Given the description of an element on the screen output the (x, y) to click on. 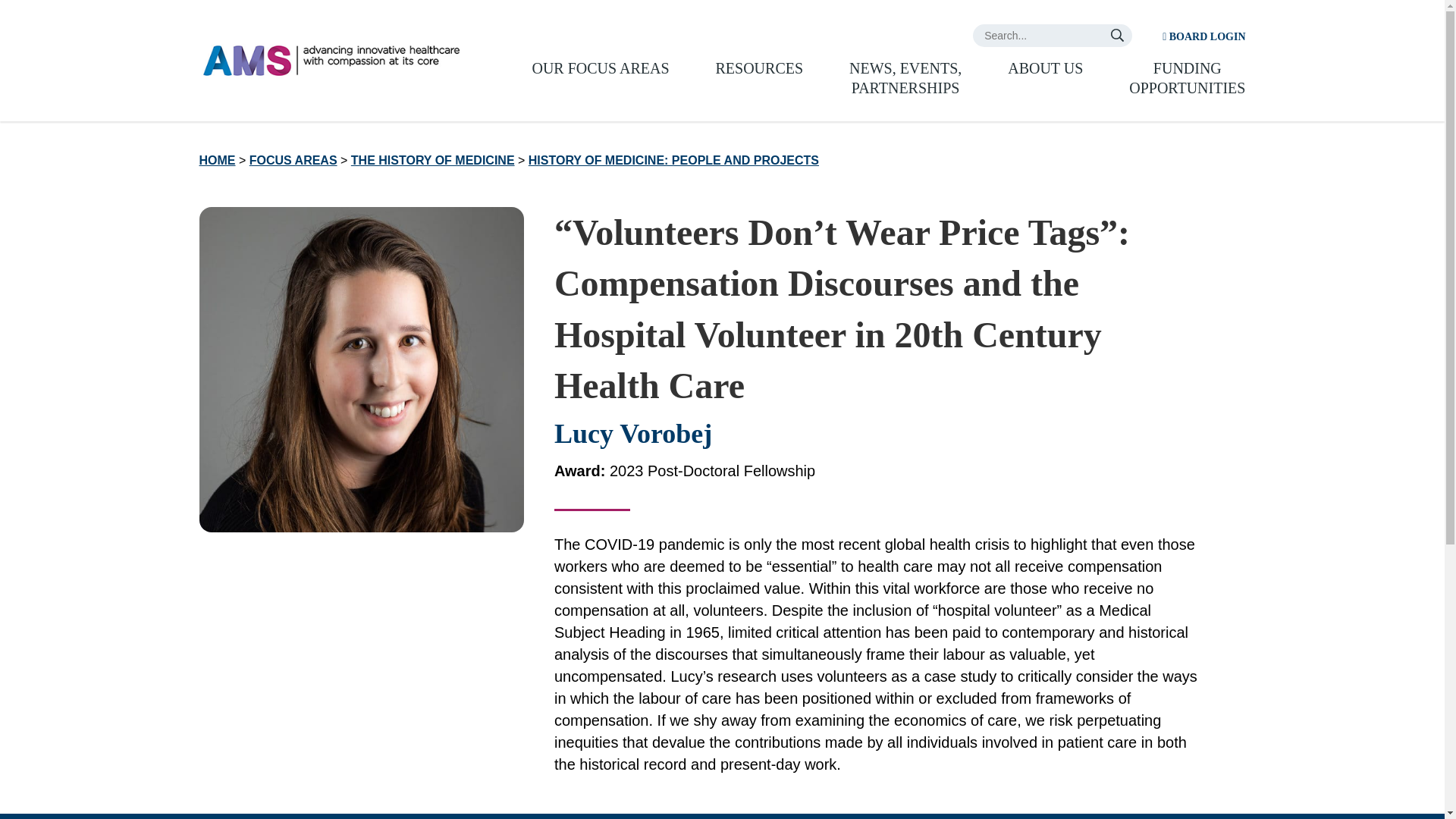
OUR FOCUS AREAS (599, 66)
ABOUT US (1045, 66)
RESOURCES (759, 66)
600x600-images (360, 369)
submit (1116, 35)
submit (1116, 35)
BOARD LOGIN (1202, 35)
FOCUS AREAS (292, 160)
HISTORY OF MEDICINE: PEOPLE AND PROJECTS (673, 160)
THE HISTORY OF MEDICINE (432, 160)
